Given the description of an element on the screen output the (x, y) to click on. 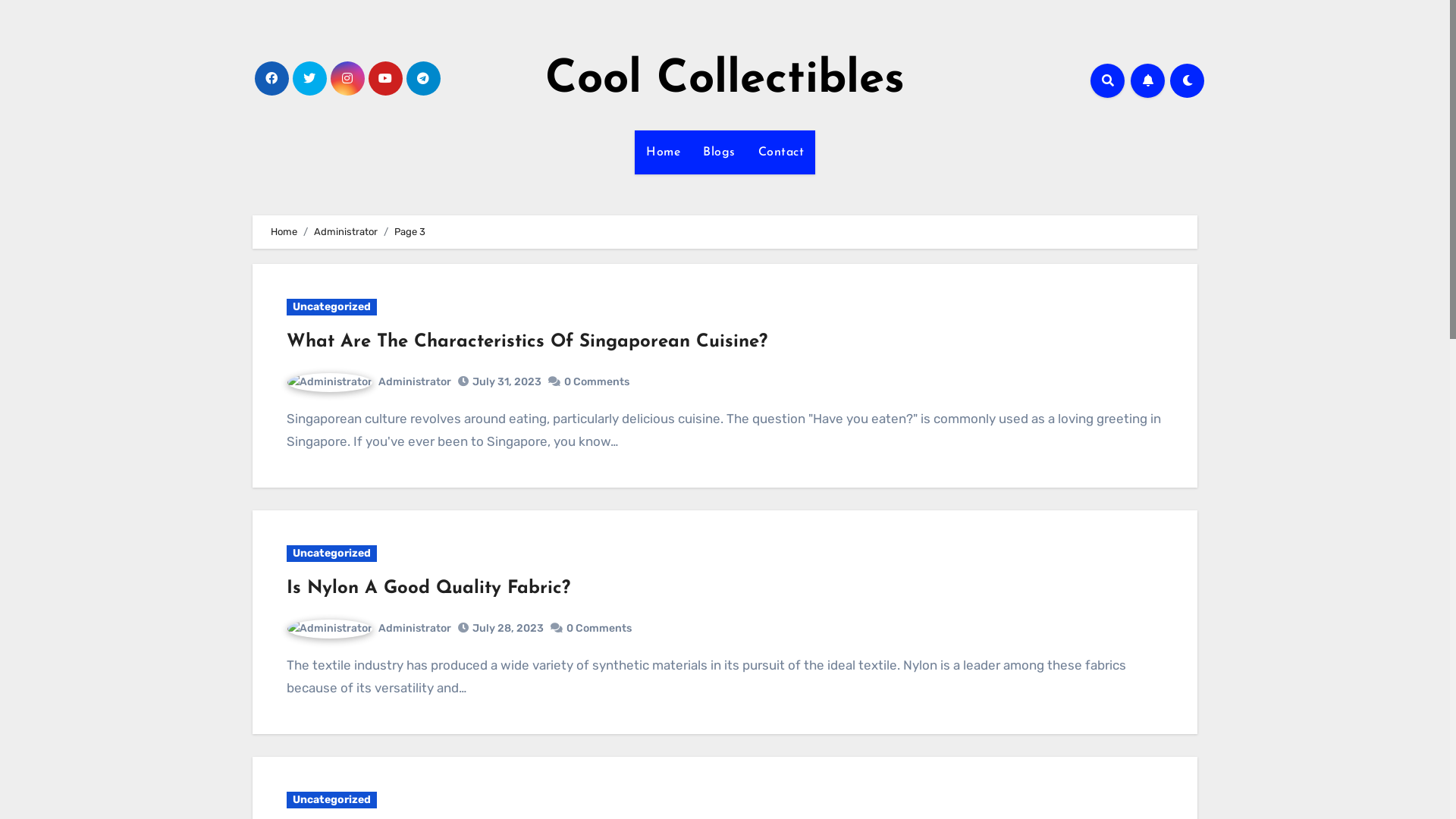
Home Element type: text (283, 231)
Uncategorized Element type: text (331, 306)
Uncategorized Element type: text (331, 553)
0 Comments Element type: text (596, 381)
Administrator Element type: text (368, 627)
What Are The Characteristics Of Singaporean Cuisine? Element type: text (526, 341)
0 Comments Element type: text (598, 627)
Uncategorized Element type: text (331, 799)
Contact Element type: text (780, 152)
Home Element type: text (662, 152)
Blogs Element type: text (718, 152)
Administrator Element type: text (368, 381)
Cool Collectibles Element type: text (724, 80)
Administrator Element type: text (345, 231)
July 28, 2023 Element type: text (507, 627)
July 31, 2023 Element type: text (506, 381)
Is Nylon A Good Quality Fabric? Element type: text (428, 588)
